Given the description of an element on the screen output the (x, y) to click on. 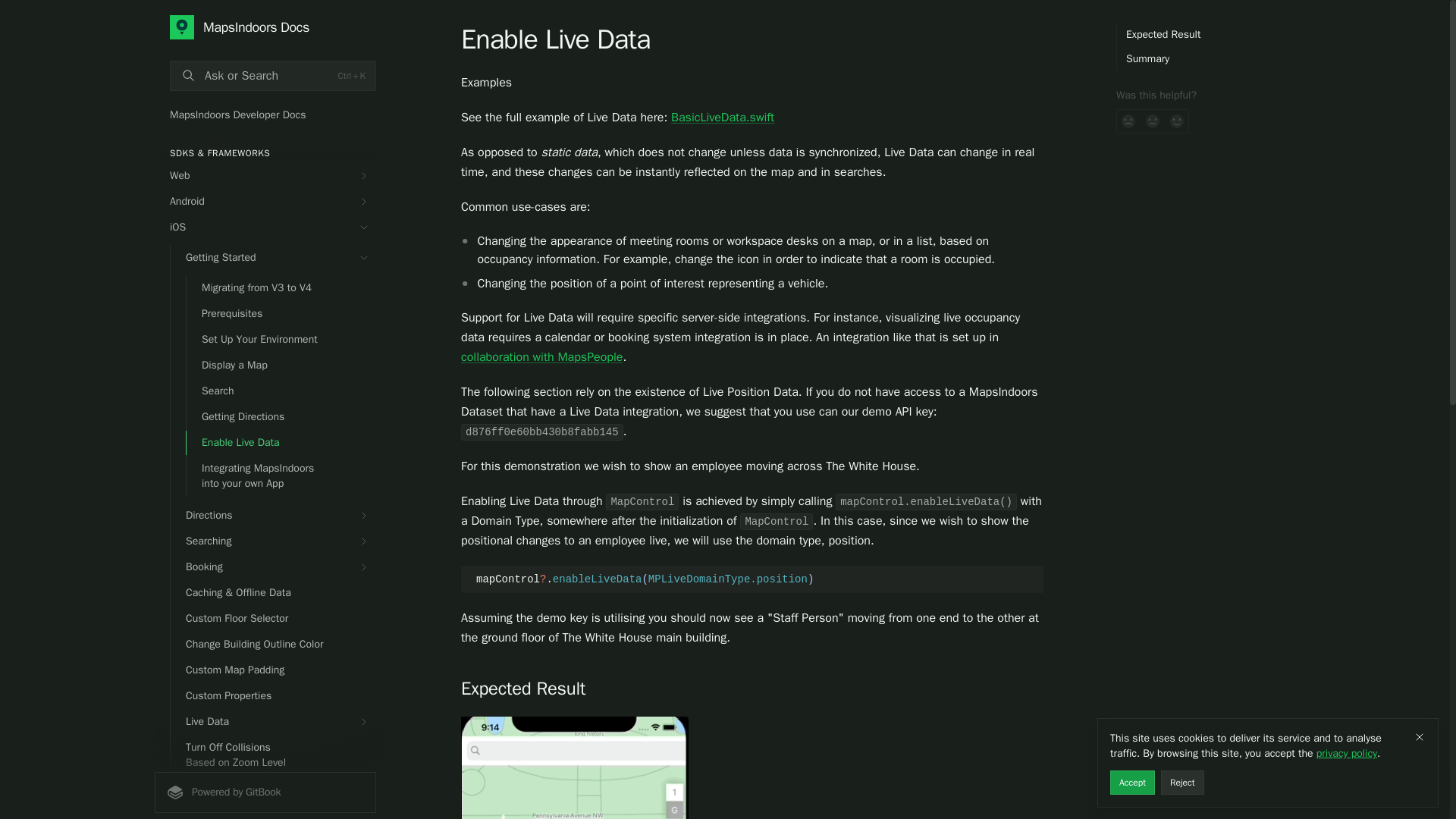
Close (1419, 737)
No (1128, 120)
MapsIndoors Developer Docs (264, 115)
Yes, it was! (1176, 120)
Web (264, 175)
Not sure (1152, 120)
MapsIndoors Docs (272, 27)
